Given the description of an element on the screen output the (x, y) to click on. 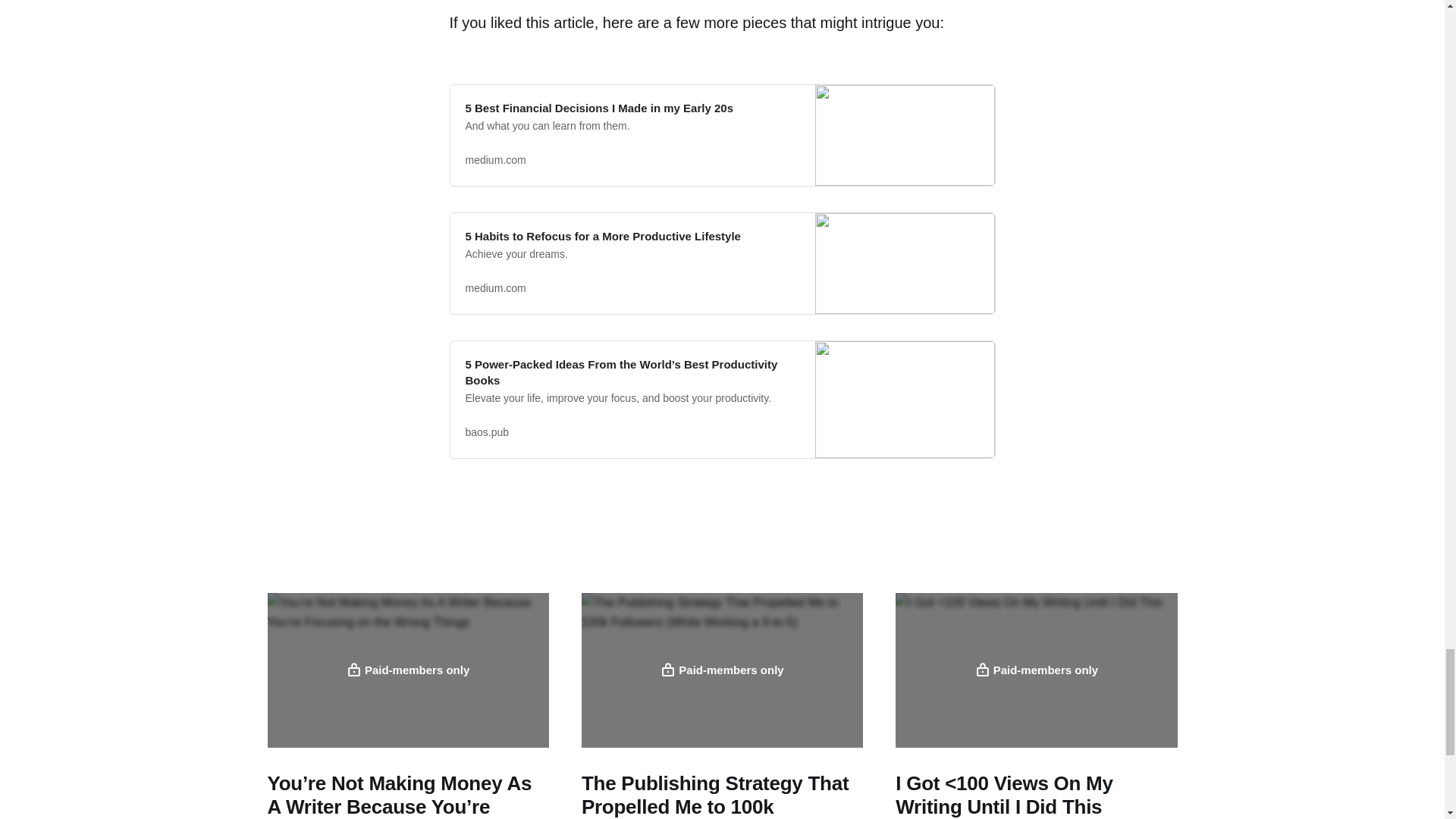
Paid-members only (1035, 669)
Paid-members only (407, 669)
Paid-members only (721, 669)
